Given the description of an element on the screen output the (x, y) to click on. 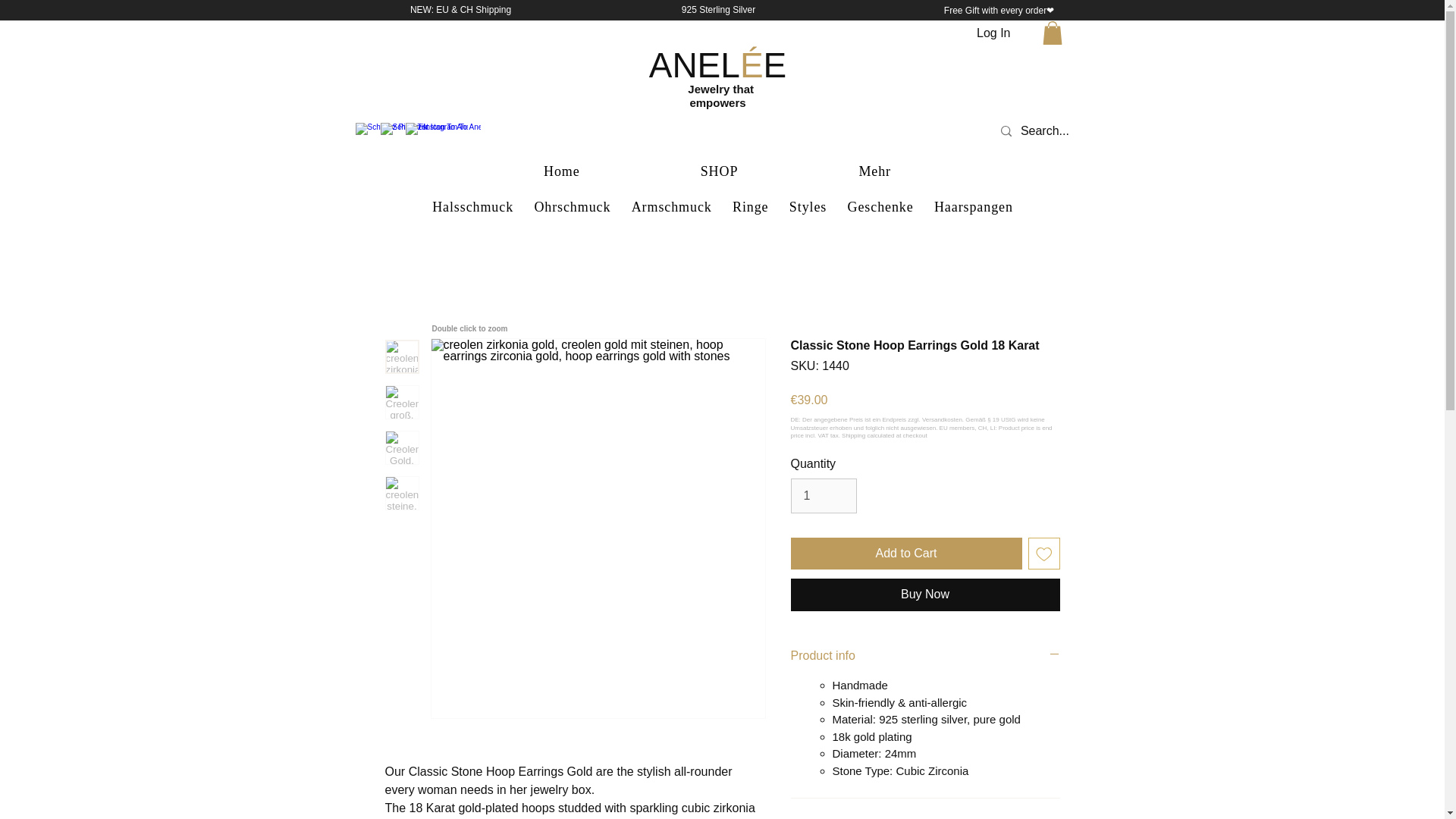
Halsschmuck (472, 207)
Ohrschmuck (572, 207)
Buy Now (924, 594)
1 (823, 495)
Armschmuck (670, 207)
Product info (924, 655)
Log In (993, 32)
Mehr (875, 171)
Add to Cart (906, 553)
